Given the description of an element on the screen output the (x, y) to click on. 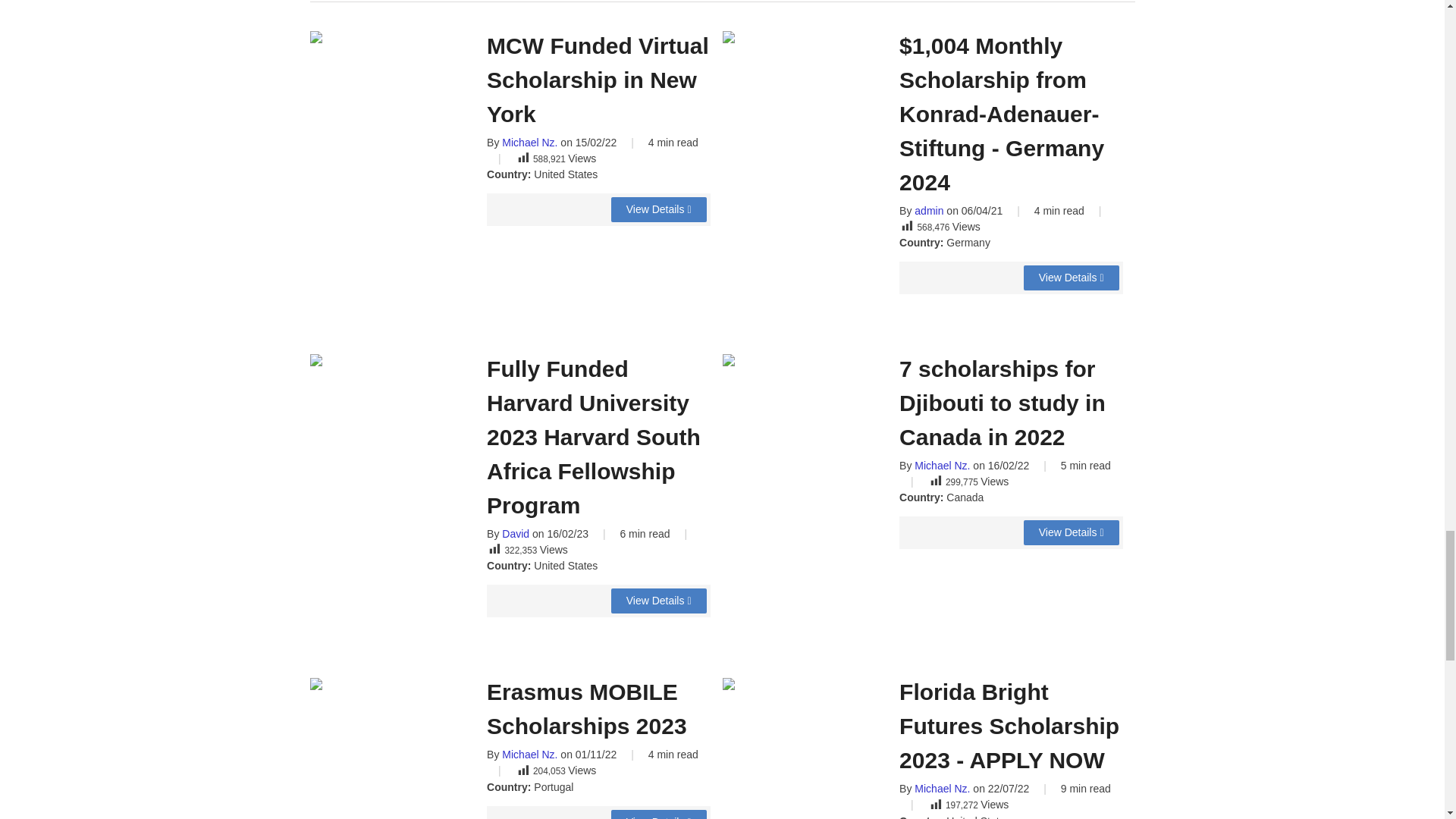
MCW Funded Virtual Scholarship in New York (658, 209)
7 scholarships for Djibouti to study in Canada in 2022 (1071, 532)
